Given the description of an element on the screen output the (x, y) to click on. 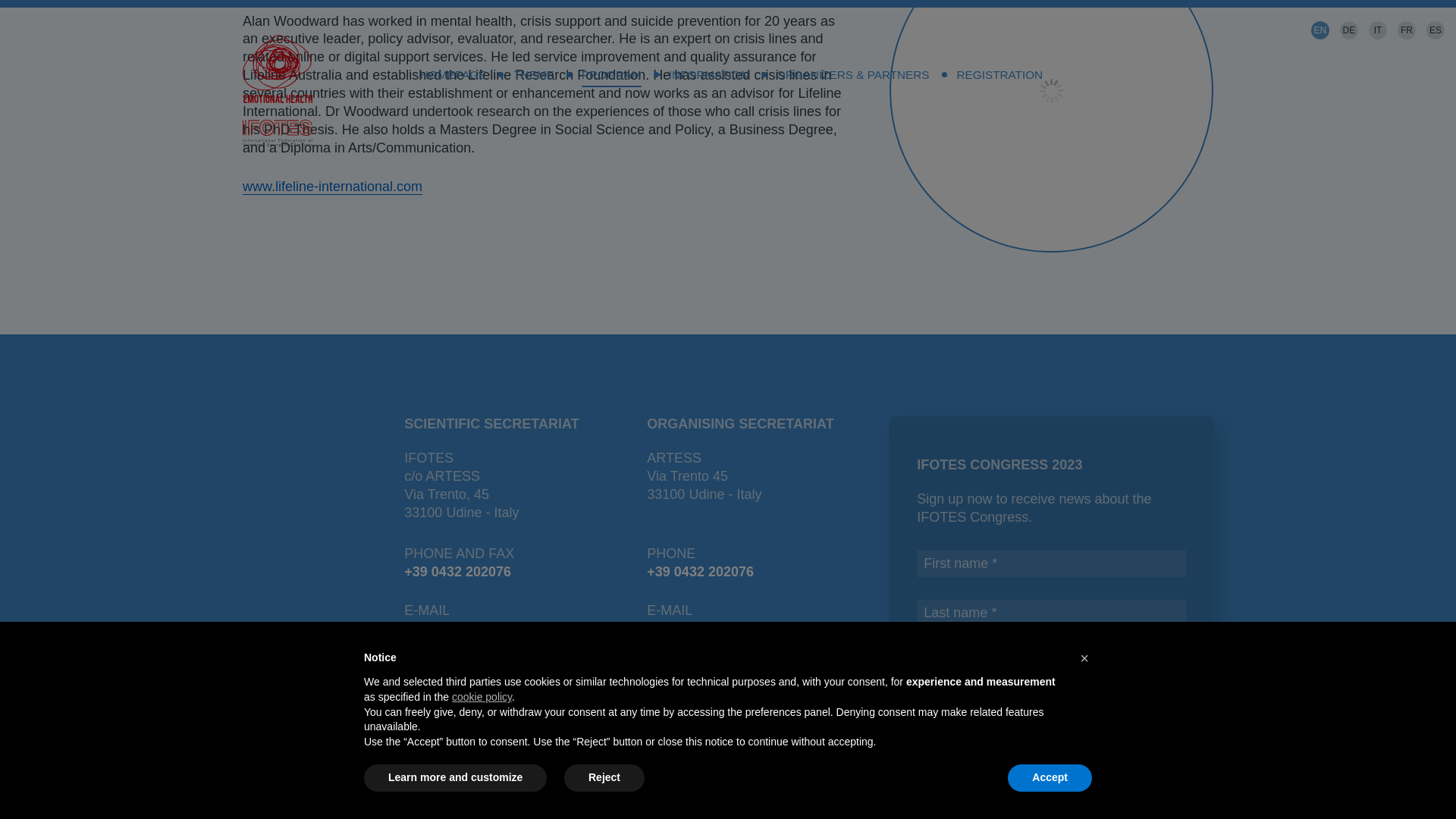
Country (1051, 662)
